Given the description of an element on the screen output the (x, y) to click on. 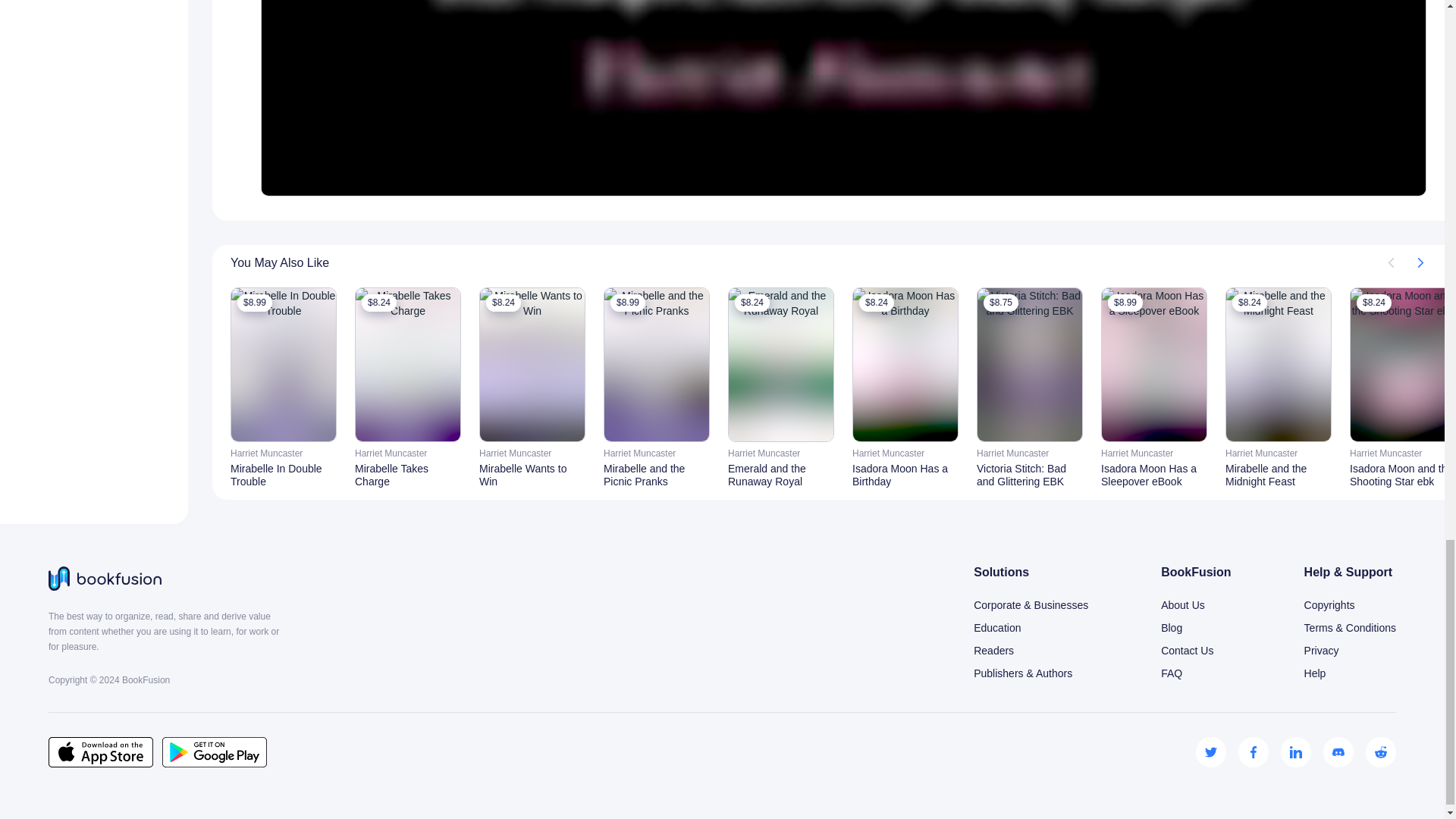
Isadora Moon Has a Sleepover eBook (1153, 475)
Mirabelle Takes Charge (408, 475)
Isadora Moon Has a Birthday (904, 475)
Mirabelle In Double Trouble (283, 475)
Isadora Moon Has a Birthday (904, 475)
Emerald and the Runaway Royal (781, 475)
Mirabelle Wants to Win (532, 475)
Harriet Muncaster (532, 453)
Harriet Muncaster (408, 453)
Harriet Muncaster (657, 453)
Harriet Muncaster (904, 453)
Mirabelle Takes Charge (408, 475)
Harriet Muncaster (781, 453)
Emerald and the Runaway Royal (781, 475)
Mirabelle and the Picnic Pranks (657, 475)
